Given the description of an element on the screen output the (x, y) to click on. 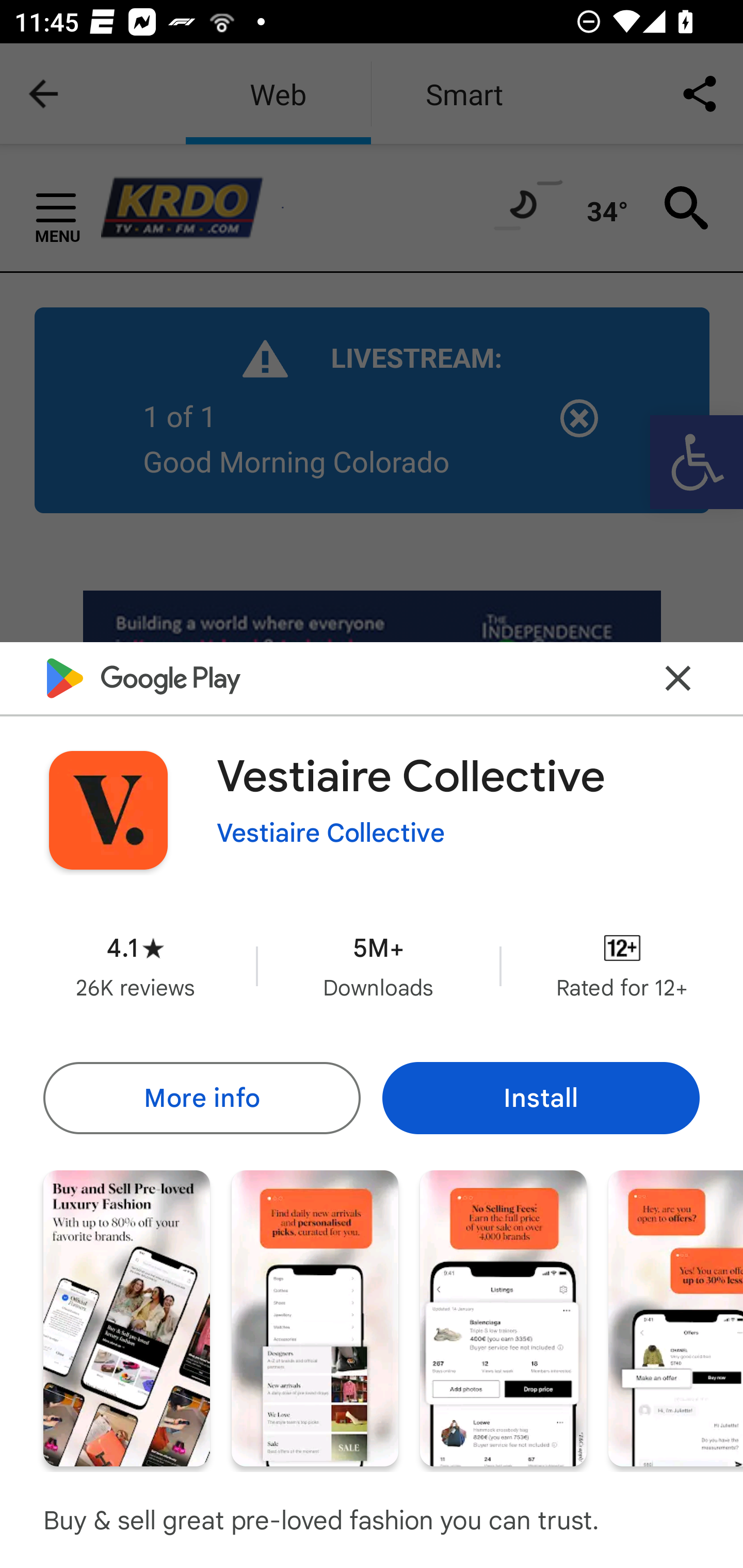
Close (677, 678)
Image of app or game icon for Vestiaire Collective (108, 809)
Vestiaire Collective (330, 832)
More info (201, 1097)
Install (540, 1097)
Screenshot "1" of "8" (126, 1317)
Screenshot "2" of "8" (314, 1317)
Screenshot "3" of "8" (502, 1317)
Screenshot "4" of "8" (675, 1317)
